Given the description of an element on the screen output the (x, y) to click on. 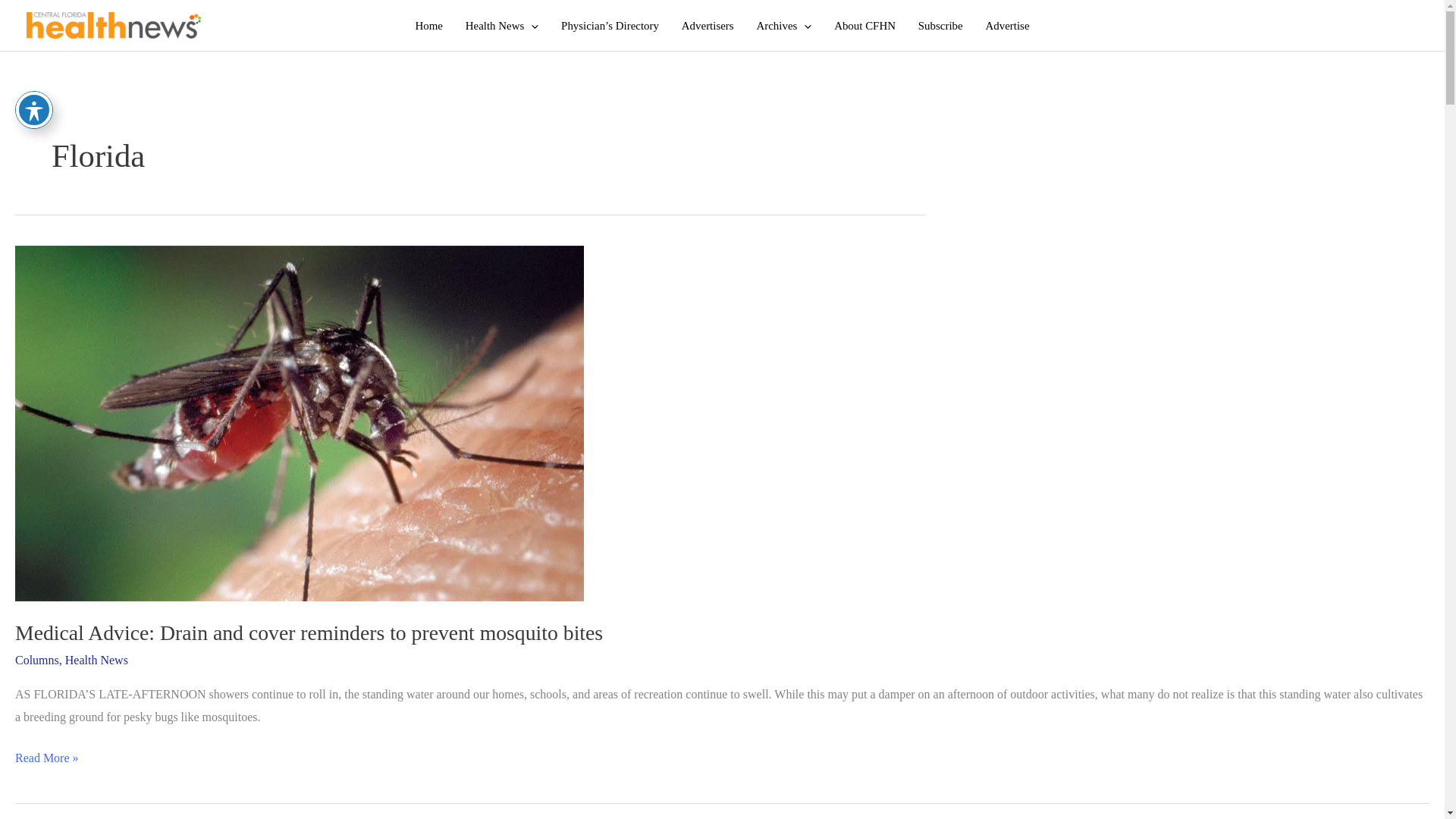
Advertise (1007, 25)
Health News (502, 25)
About CFHN (864, 25)
Archives (784, 25)
Advertisers (707, 25)
Home (429, 25)
Subscribe (940, 25)
